Given the description of an element on the screen output the (x, y) to click on. 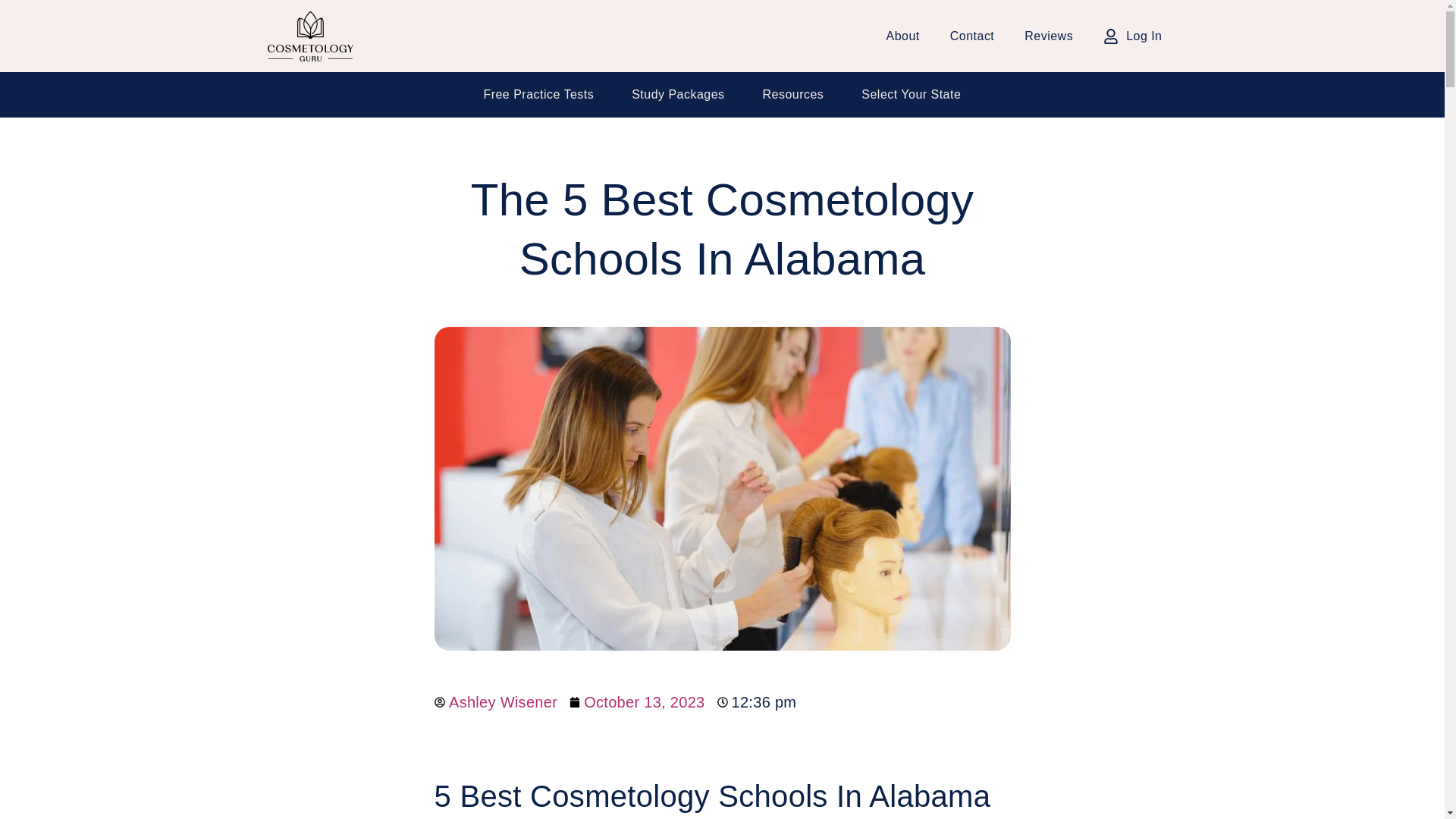
Contact (972, 35)
Free Practice Tests (538, 93)
Log In (1132, 36)
Study Packages (677, 93)
Select Your State (910, 93)
Reviews (1049, 35)
Resources (793, 93)
About (903, 35)
